Given the description of an element on the screen output the (x, y) to click on. 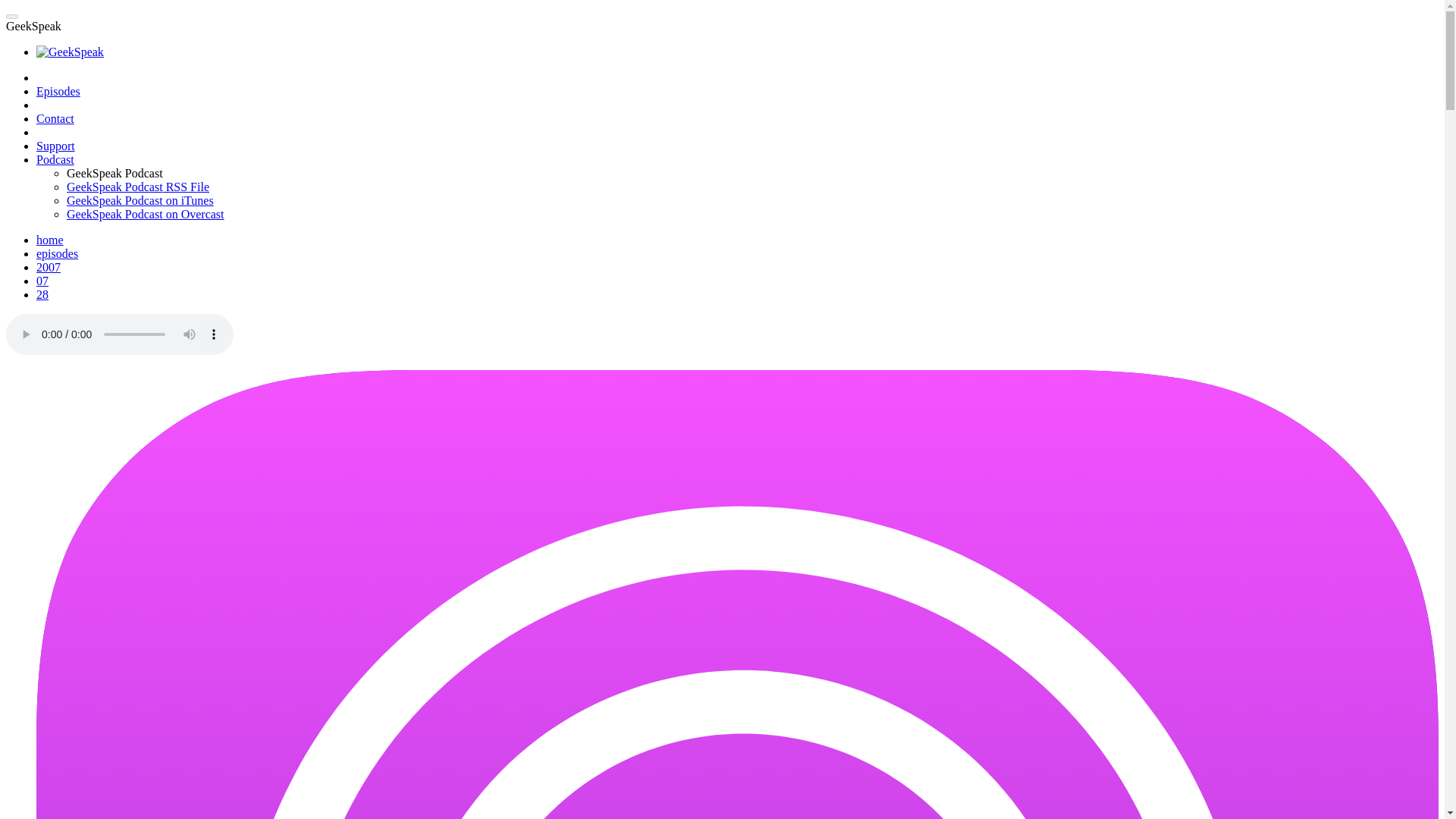
GeekSpeak Podcast on Overcast (145, 214)
GeekSpeak Podcast RSS File (137, 186)
Support (55, 145)
Episodes (58, 91)
07 (42, 280)
Podcast (55, 159)
28 (42, 294)
home (50, 239)
episodes (57, 253)
Contact (55, 118)
GeekSpeak Podcast on iTunes (140, 200)
2007 (48, 267)
